Given the description of an element on the screen output the (x, y) to click on. 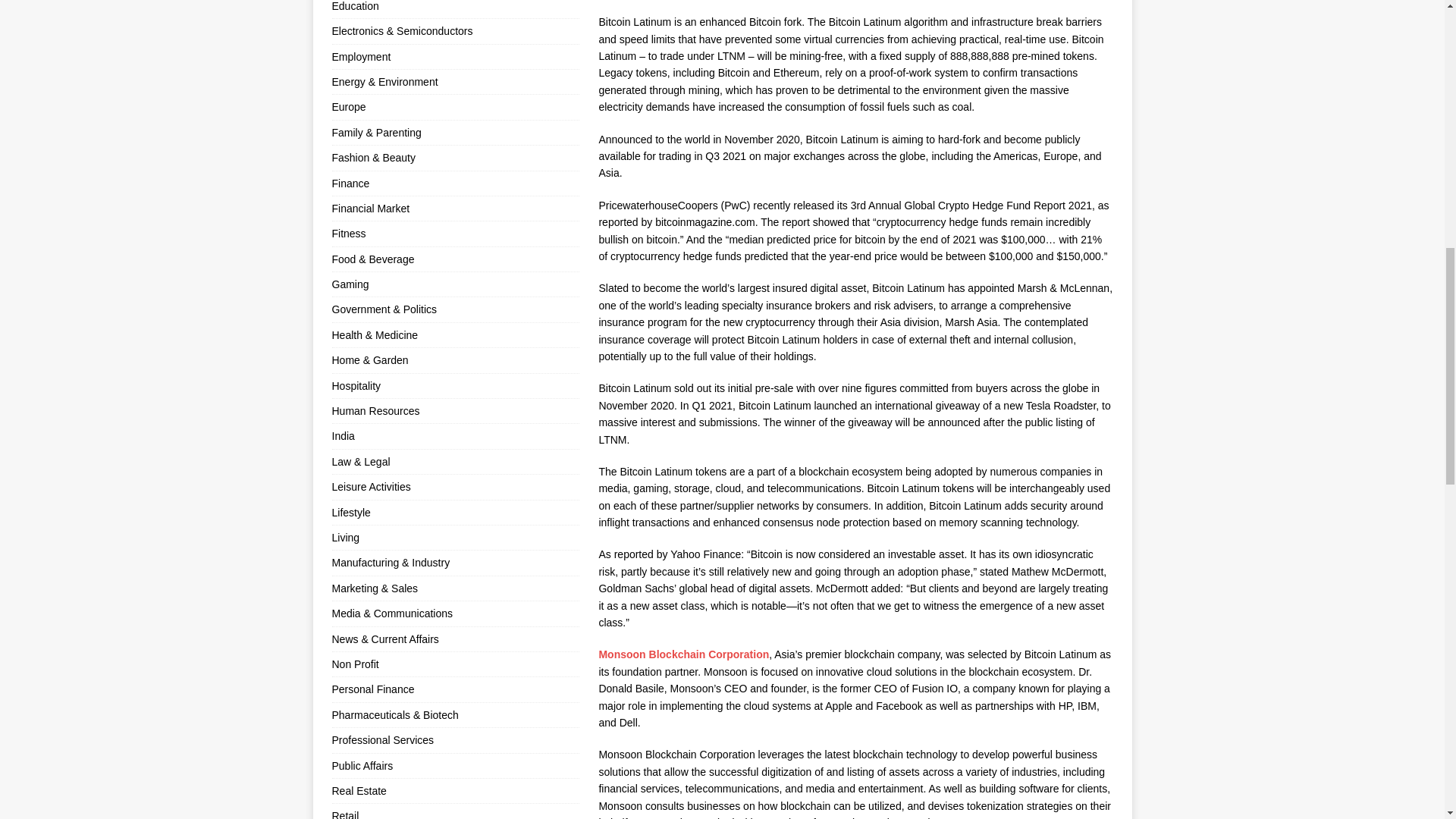
Education (455, 9)
Monsoon Blockchain Corporation (683, 654)
Employment (455, 56)
